Given the description of an element on the screen output the (x, y) to click on. 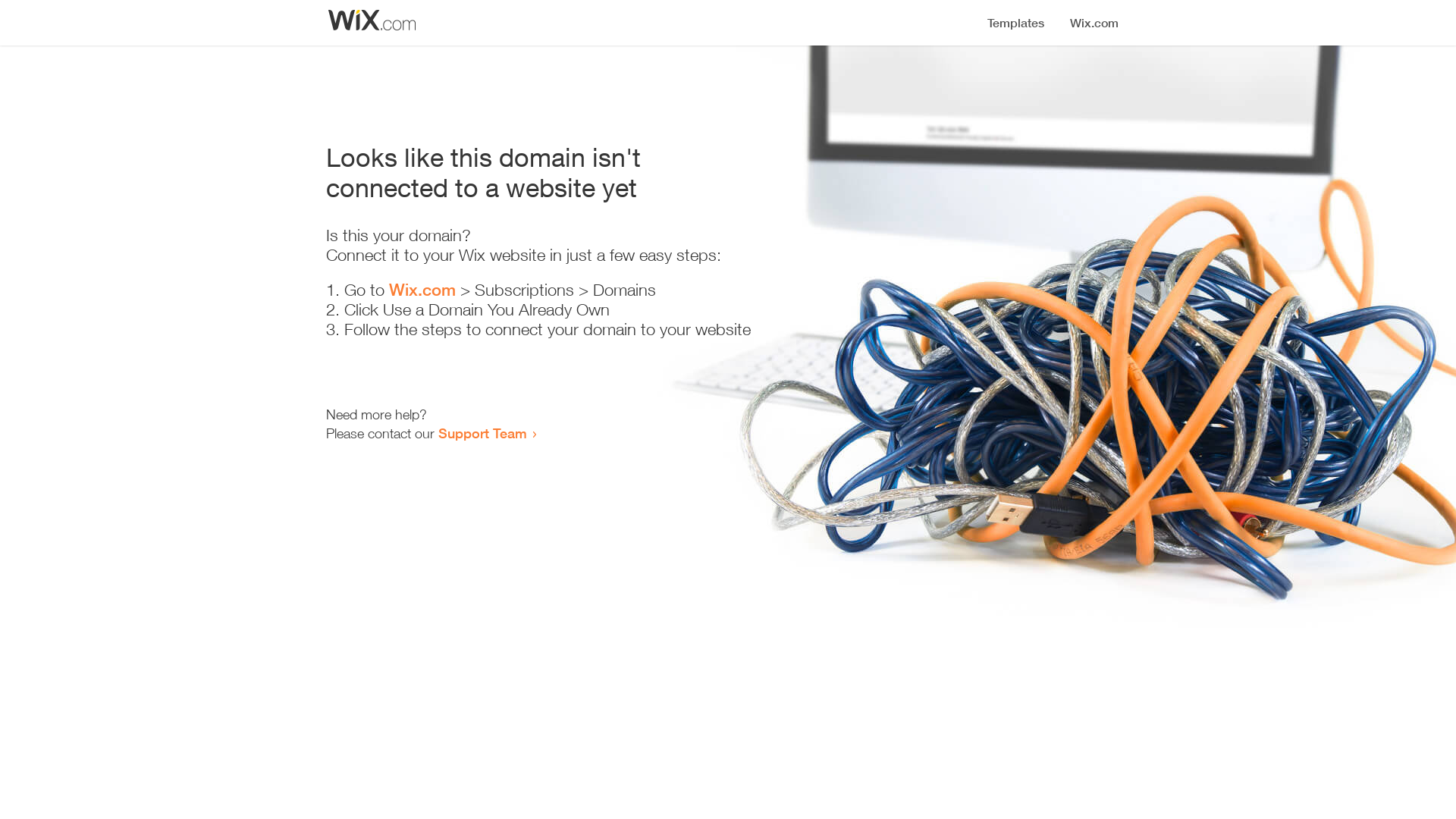
Wix.com Element type: text (422, 289)
Support Team Element type: text (482, 432)
